Given the description of an element on the screen output the (x, y) to click on. 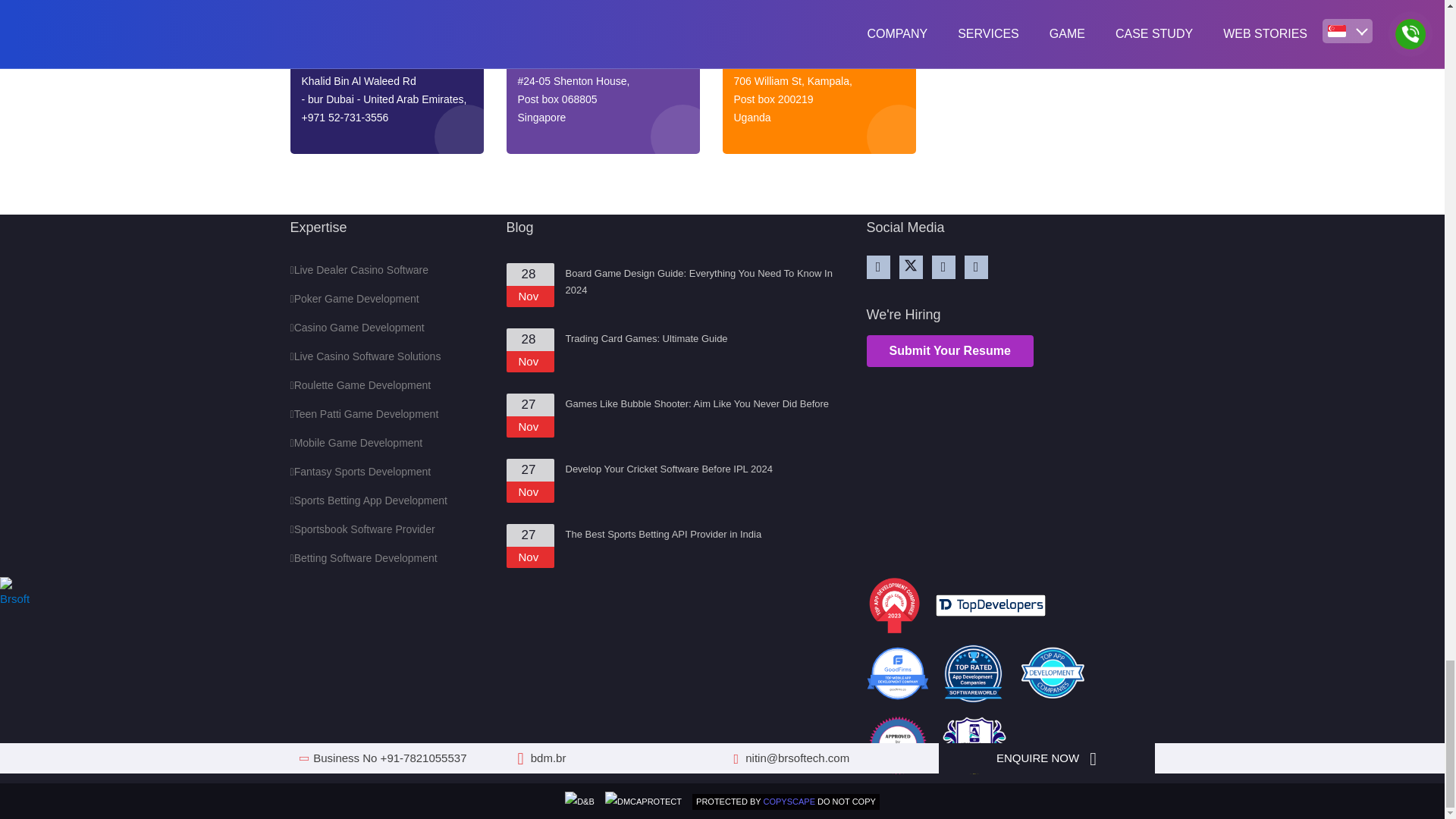
Live Dealer Casino Software (358, 269)
